Given the description of an element on the screen output the (x, y) to click on. 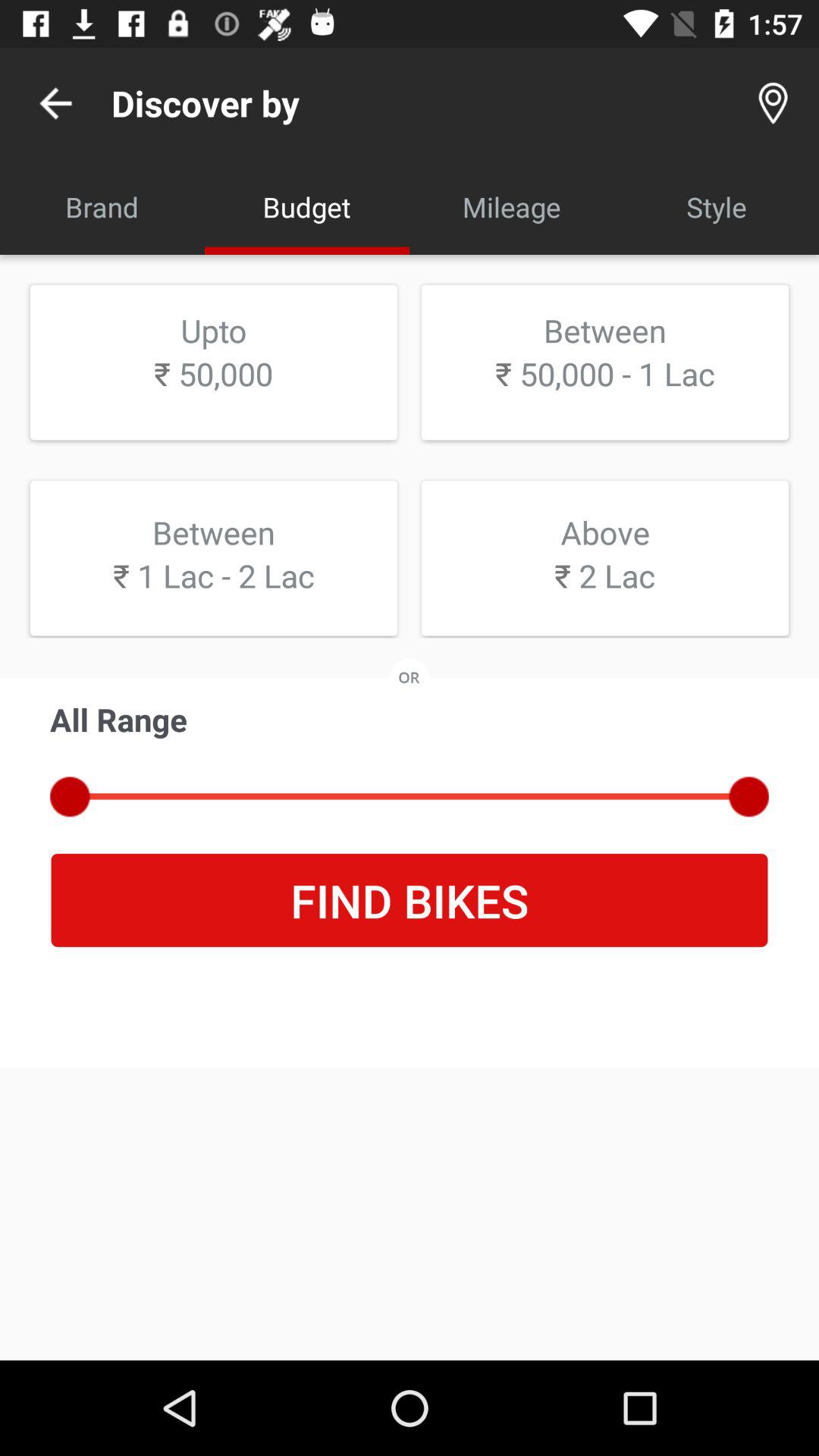
press the item to the left of discover by item (55, 103)
